Given the description of an element on the screen output the (x, y) to click on. 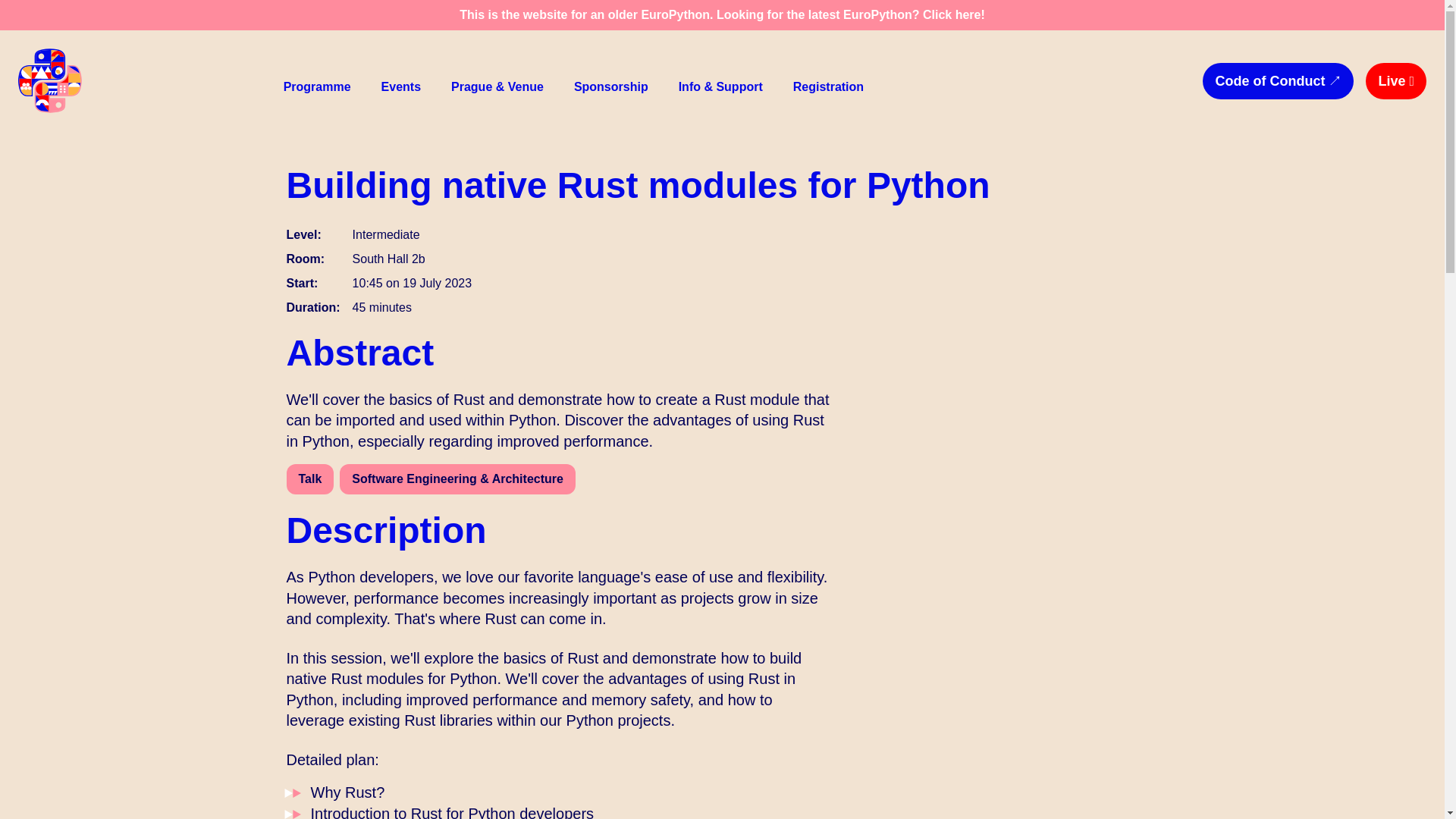
Sponsorship (611, 86)
Programme (316, 86)
Events (400, 86)
